Given the description of an element on the screen output the (x, y) to click on. 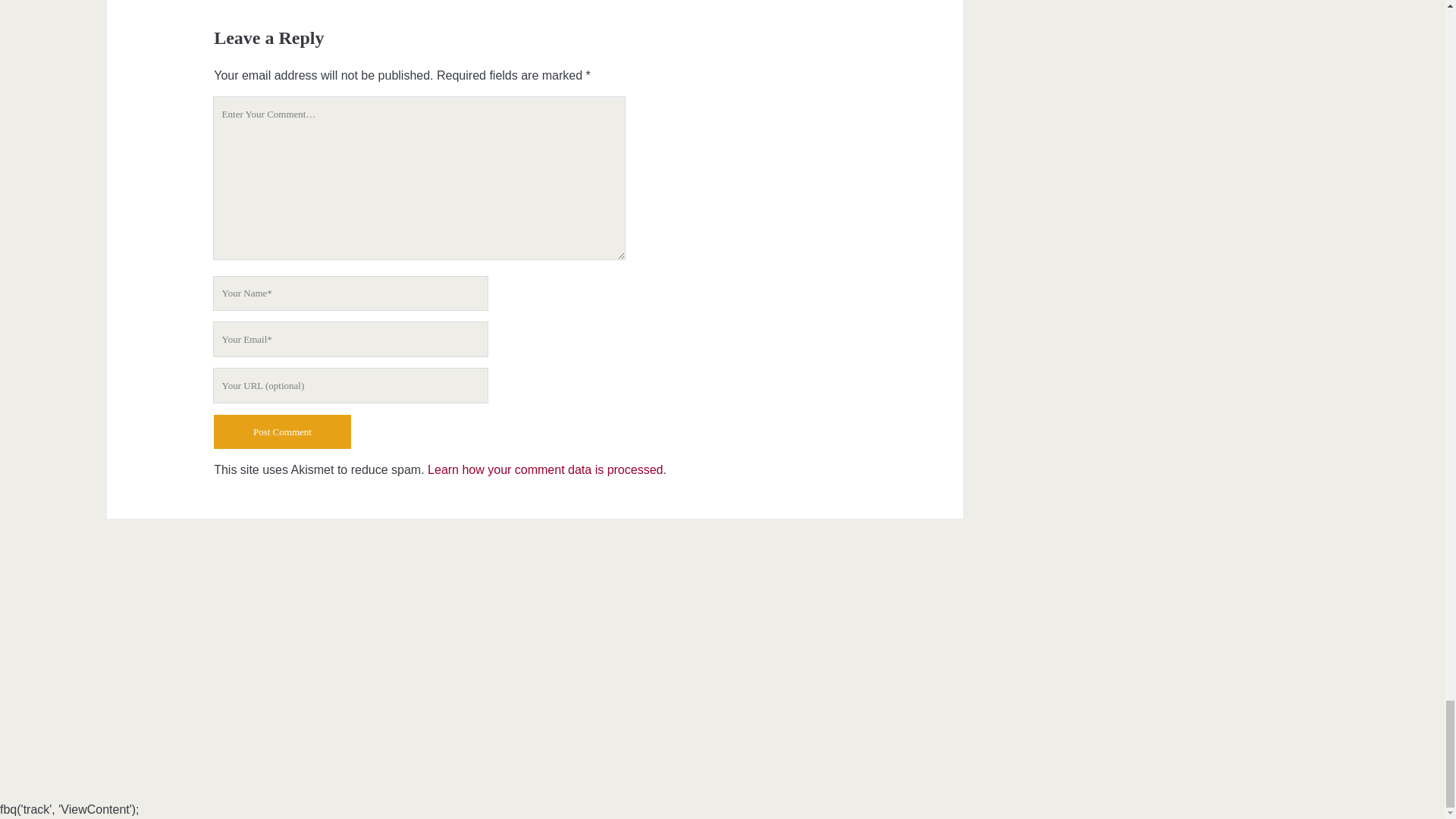
Learn how your comment data is processed (545, 469)
Post Comment (282, 431)
Post Comment (282, 431)
